Given the description of an element on the screen output the (x, y) to click on. 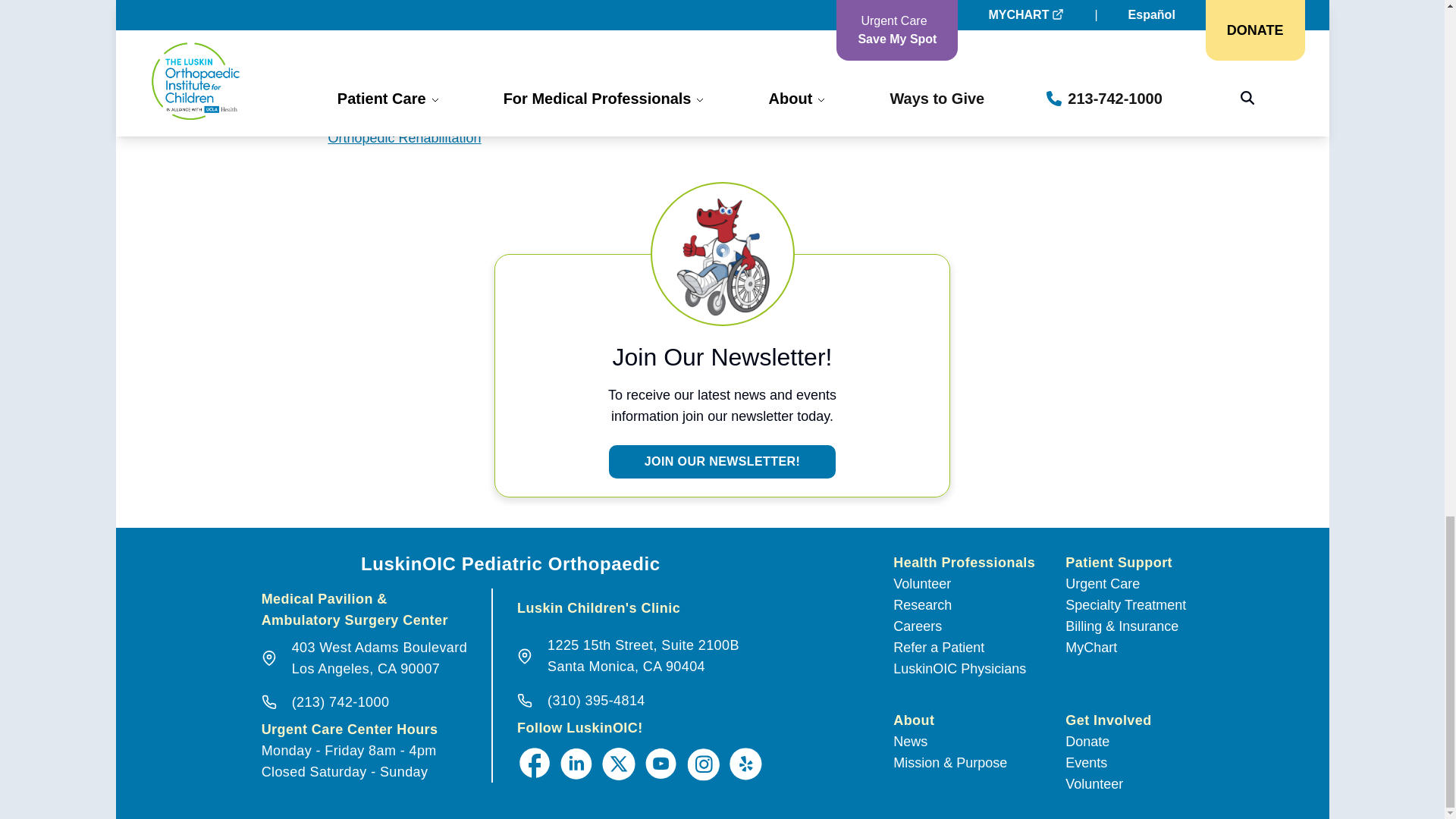
Donate (1087, 741)
MyChart (1090, 647)
Refer a Patient (938, 647)
Hip Disorders (379, 658)
JOIN OUR NEWSLETTER! (368, 83)
Sports Medicine (643, 656)
Urgent Care (721, 461)
Volunteer (376, 110)
